Given the description of an element on the screen output the (x, y) to click on. 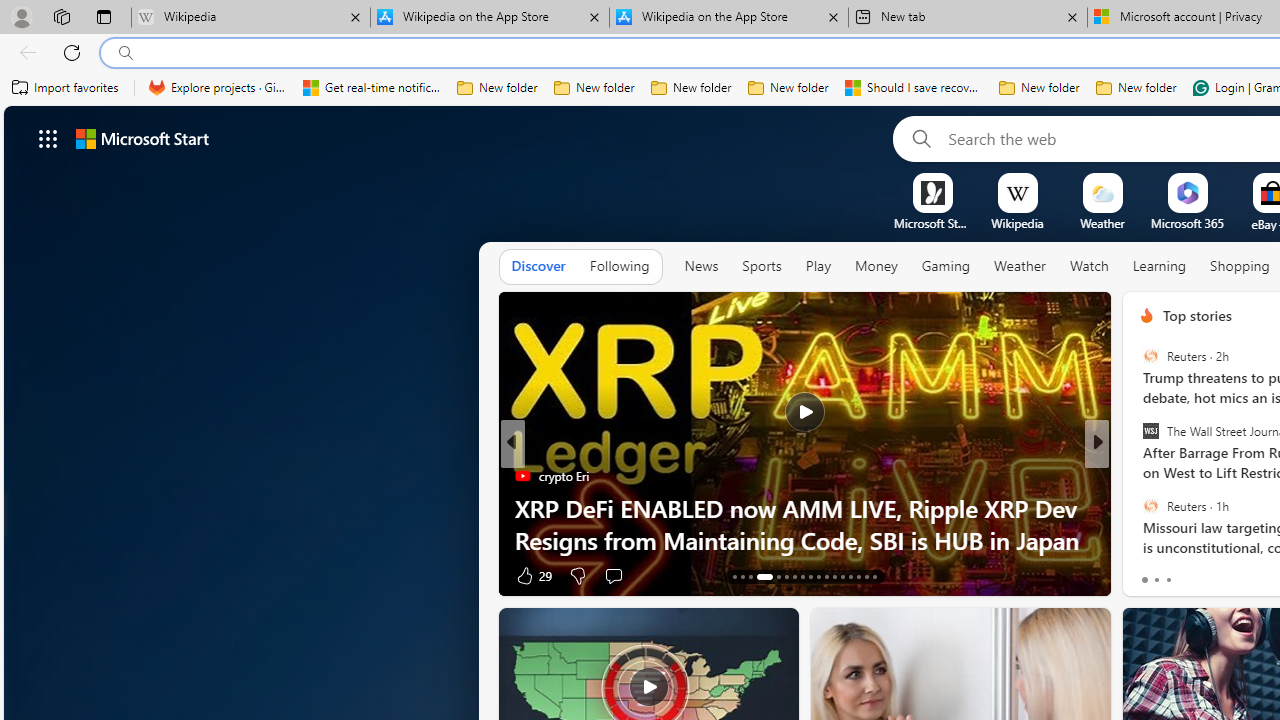
Discover (538, 265)
Newsweek (1138, 507)
11 Like (1149, 574)
AutomationID: tab-21 (810, 576)
Top stories (1196, 315)
Reuters (1149, 505)
AutomationID: tab-16 (757, 576)
Watch (1089, 267)
AutomationID: tab-23 (825, 576)
Dislike (1185, 574)
tab-2 (1168, 579)
Wikipedia (1017, 223)
Wikipedia - Sleeping (250, 17)
AutomationID: tab-18 (786, 576)
